Given the description of an element on the screen output the (x, y) to click on. 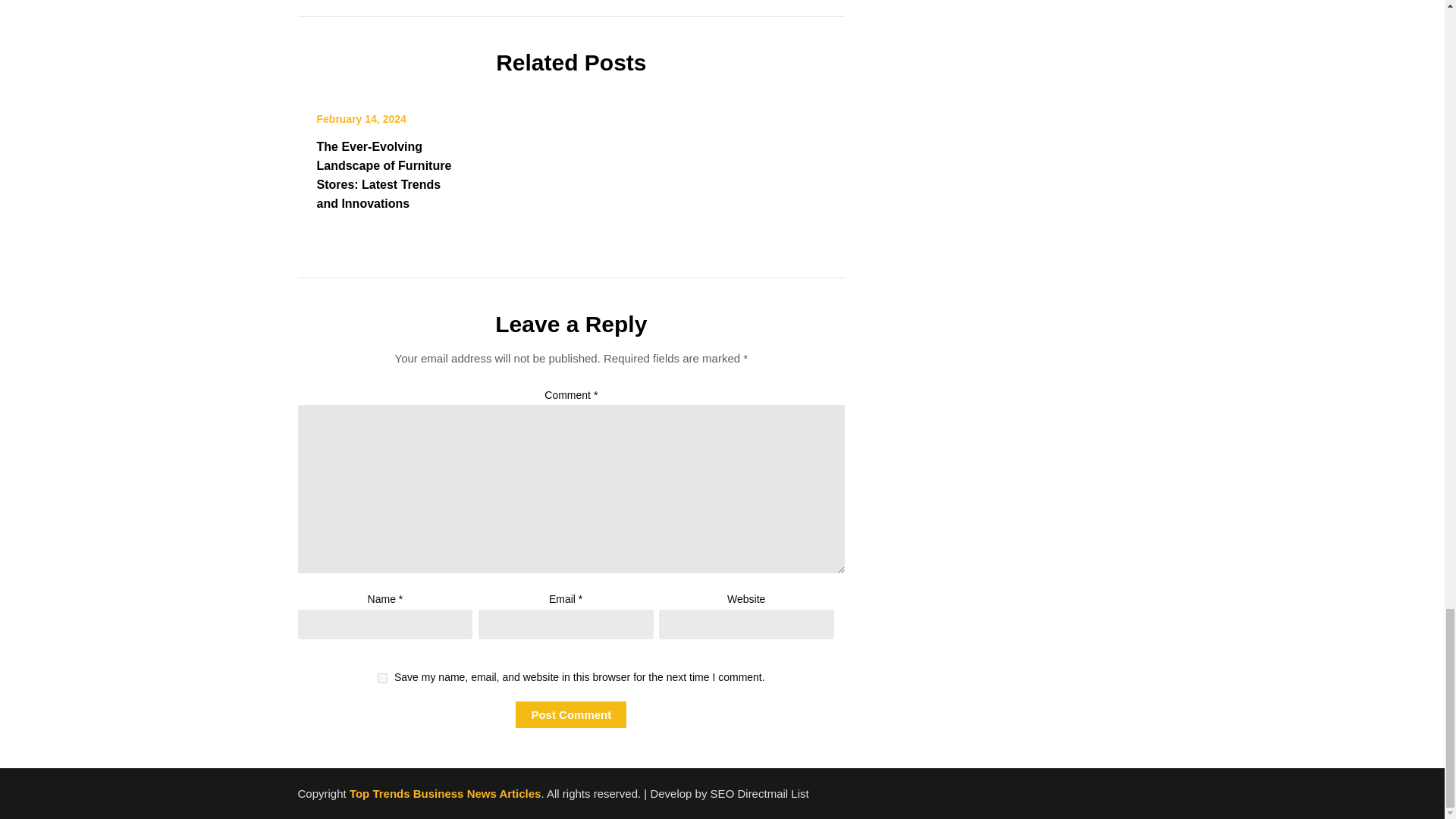
yes (382, 678)
Post Comment (570, 714)
Post Comment (570, 714)
